Given the description of an element on the screen output the (x, y) to click on. 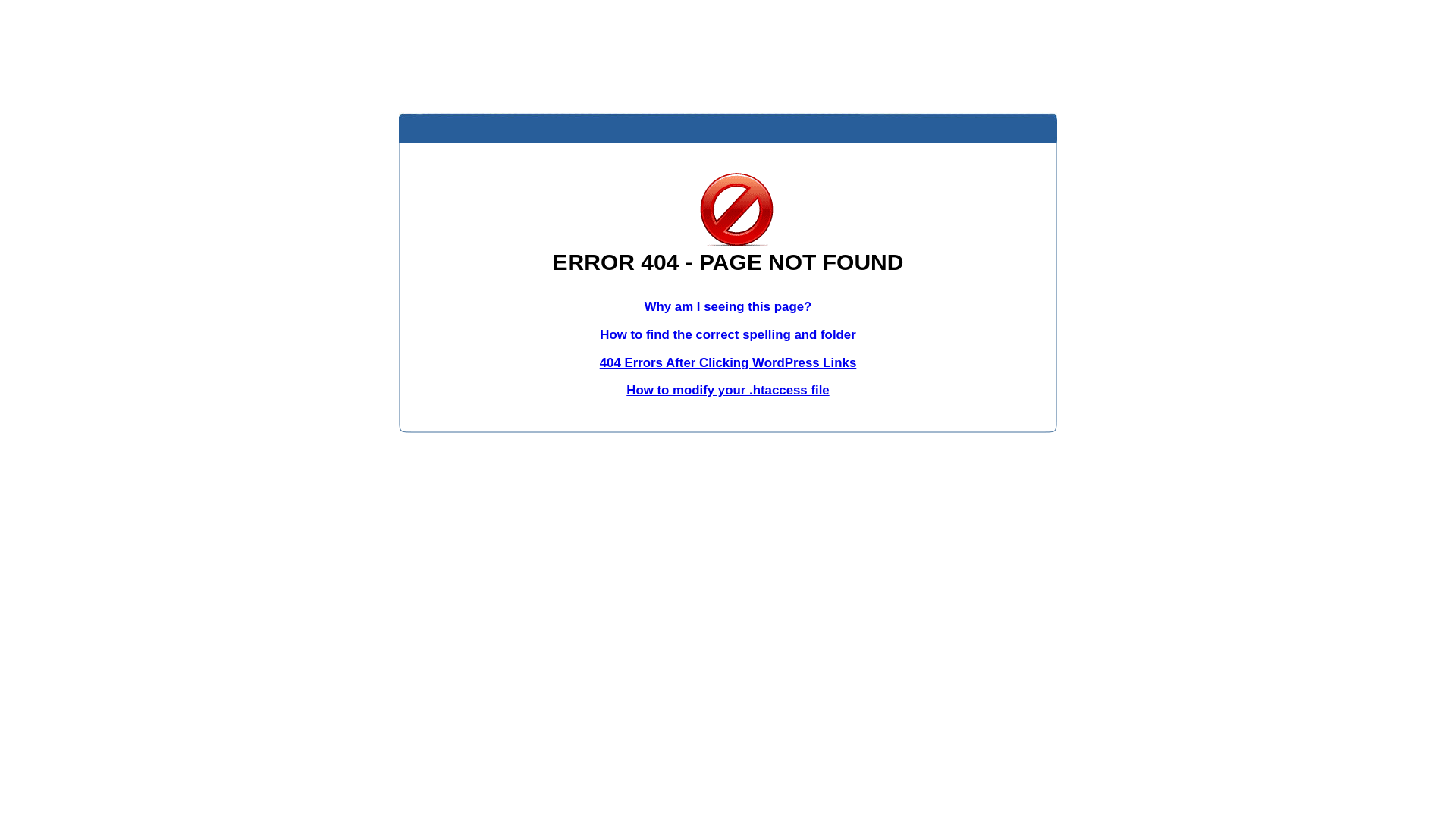
How to find the correct spelling and folder Element type: text (727, 334)
Why am I seeing this page? Element type: text (728, 306)
404 Errors After Clicking WordPress Links Element type: text (727, 362)
How to modify your .htaccess file Element type: text (727, 389)
